Given the description of an element on the screen output the (x, y) to click on. 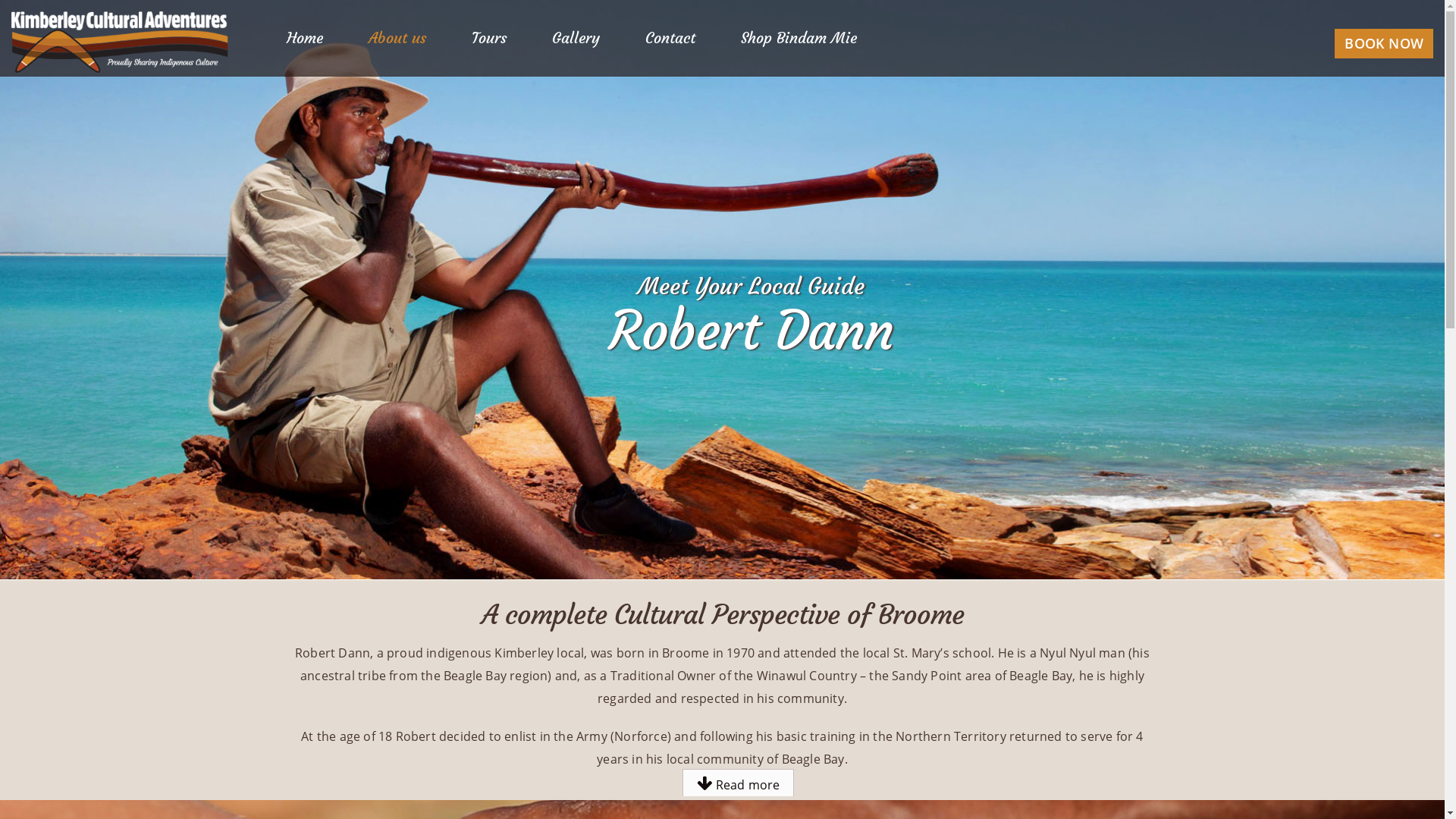
Shop Bindam Mie Element type: text (798, 37)
Read more Element type: text (737, 784)
Gallery Element type: text (575, 37)
About us Element type: text (396, 37)
BOOK NOW Element type: text (1383, 43)
Home Element type: text (304, 37)
Contact Element type: text (670, 37)
Tours Element type: text (488, 37)
